Given the description of an element on the screen output the (x, y) to click on. 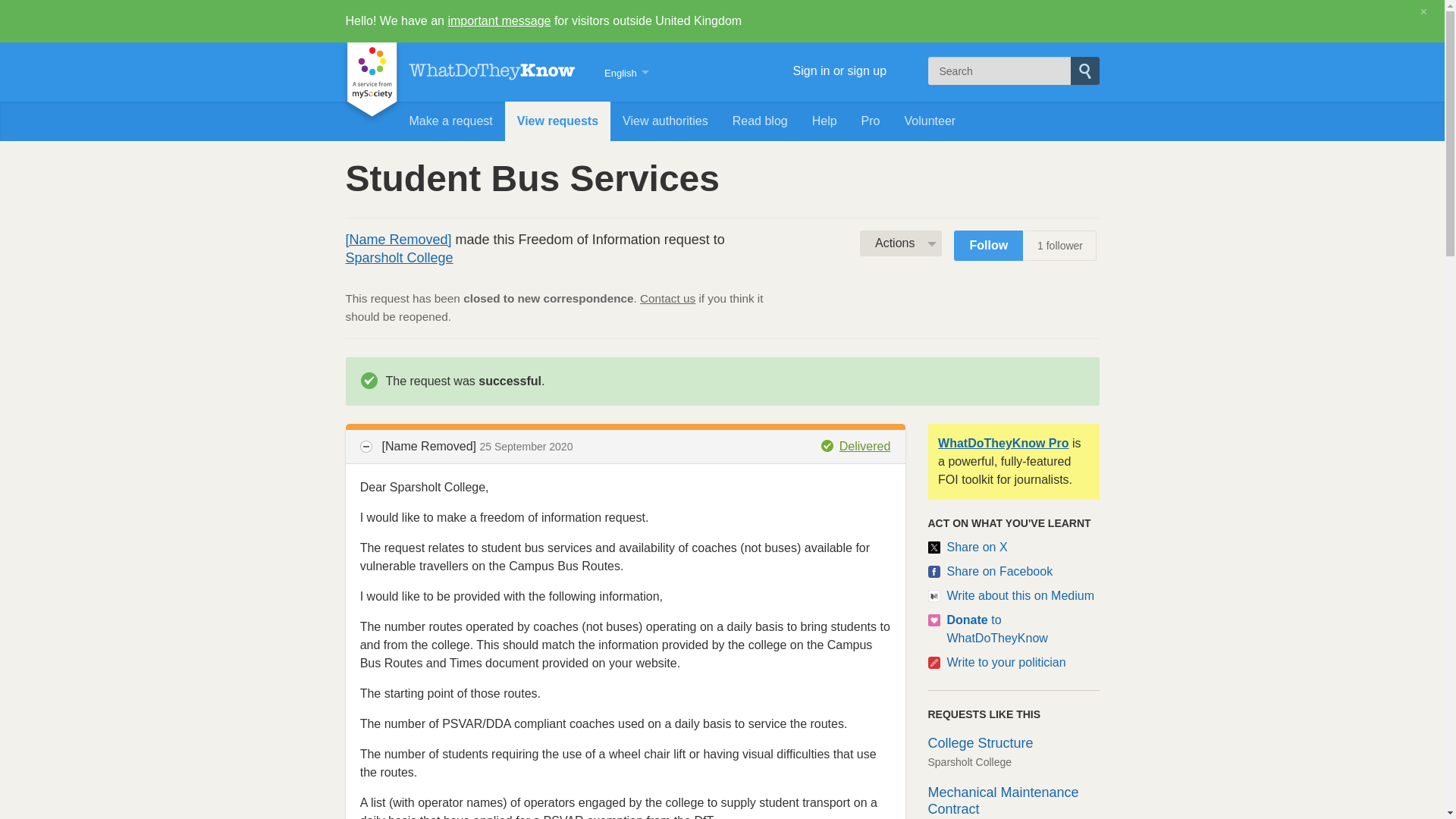
Help (823, 120)
Actions (901, 243)
Follow (988, 245)
Contact us (667, 297)
Volunteer (930, 120)
Sign in or sign up (812, 71)
View authorities (665, 120)
Submit Search (1084, 70)
Pro (870, 120)
Sparsholt College (399, 257)
WhatDoTheyKnow (491, 72)
25 September 2020 (525, 446)
Read blog (759, 120)
important message (498, 20)
Delivered (856, 445)
